Given the description of an element on the screen output the (x, y) to click on. 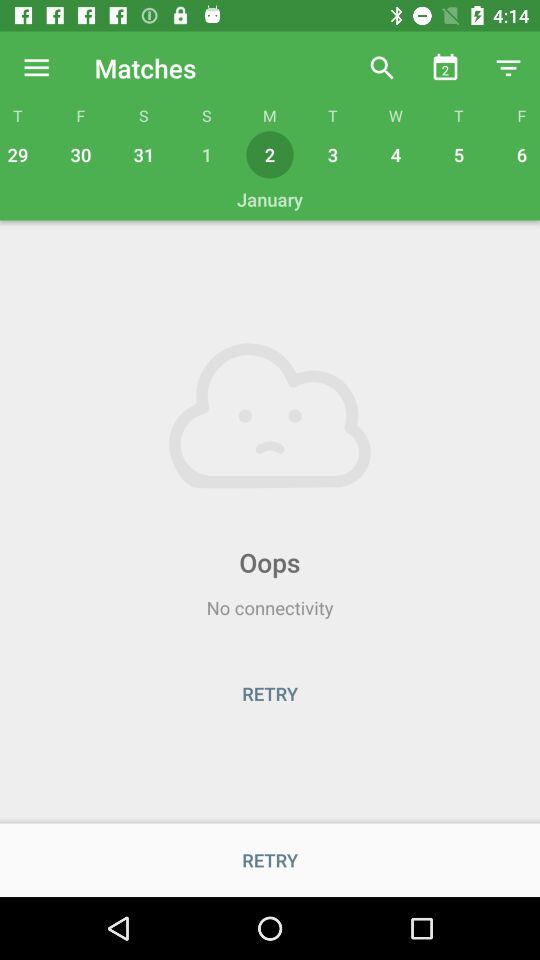
open item next to 30 icon (143, 154)
